Given the description of an element on the screen output the (x, y) to click on. 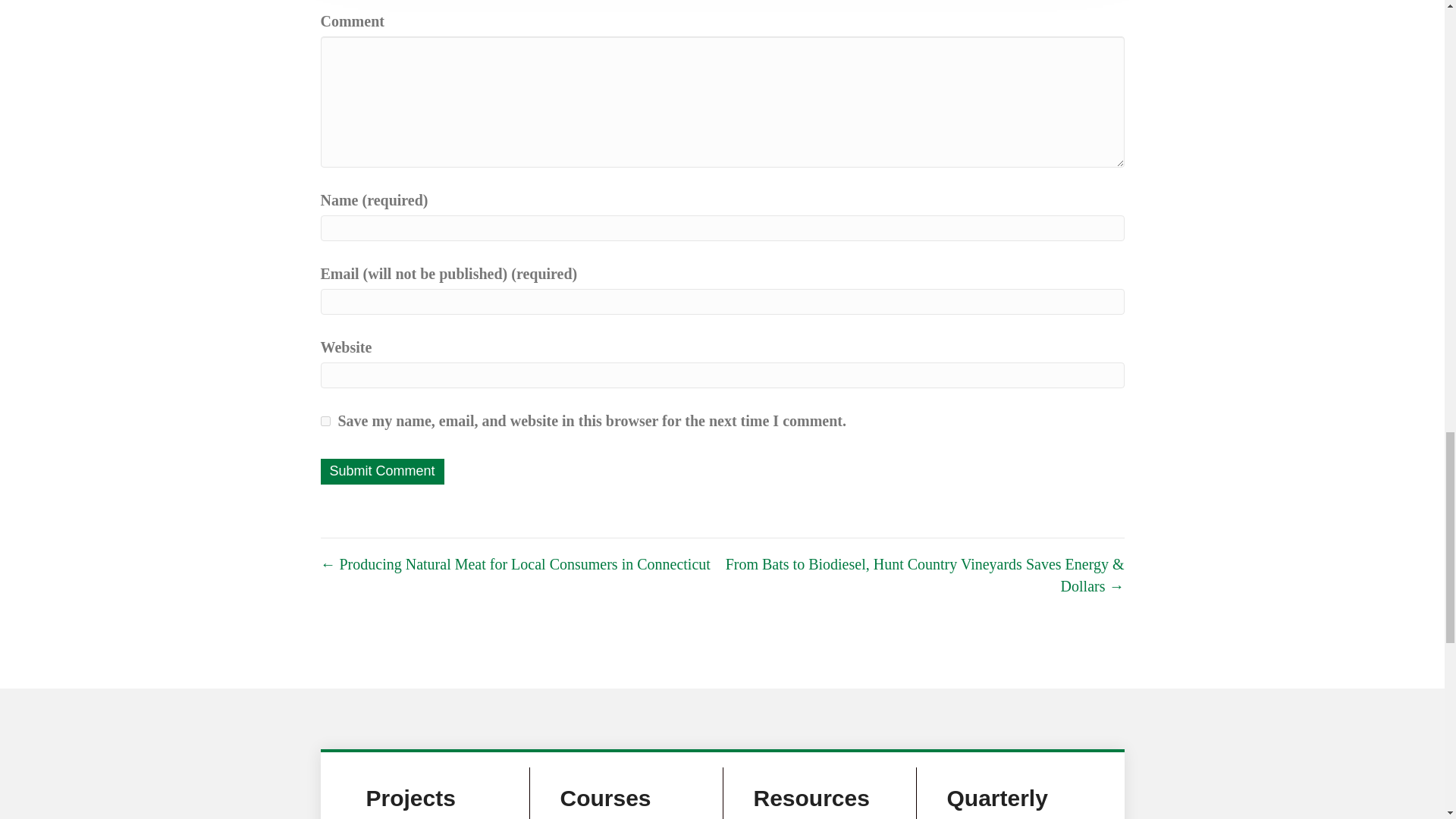
Submit Comment (382, 471)
Submit Comment (382, 471)
yes (325, 420)
